Given the description of an element on the screen output the (x, y) to click on. 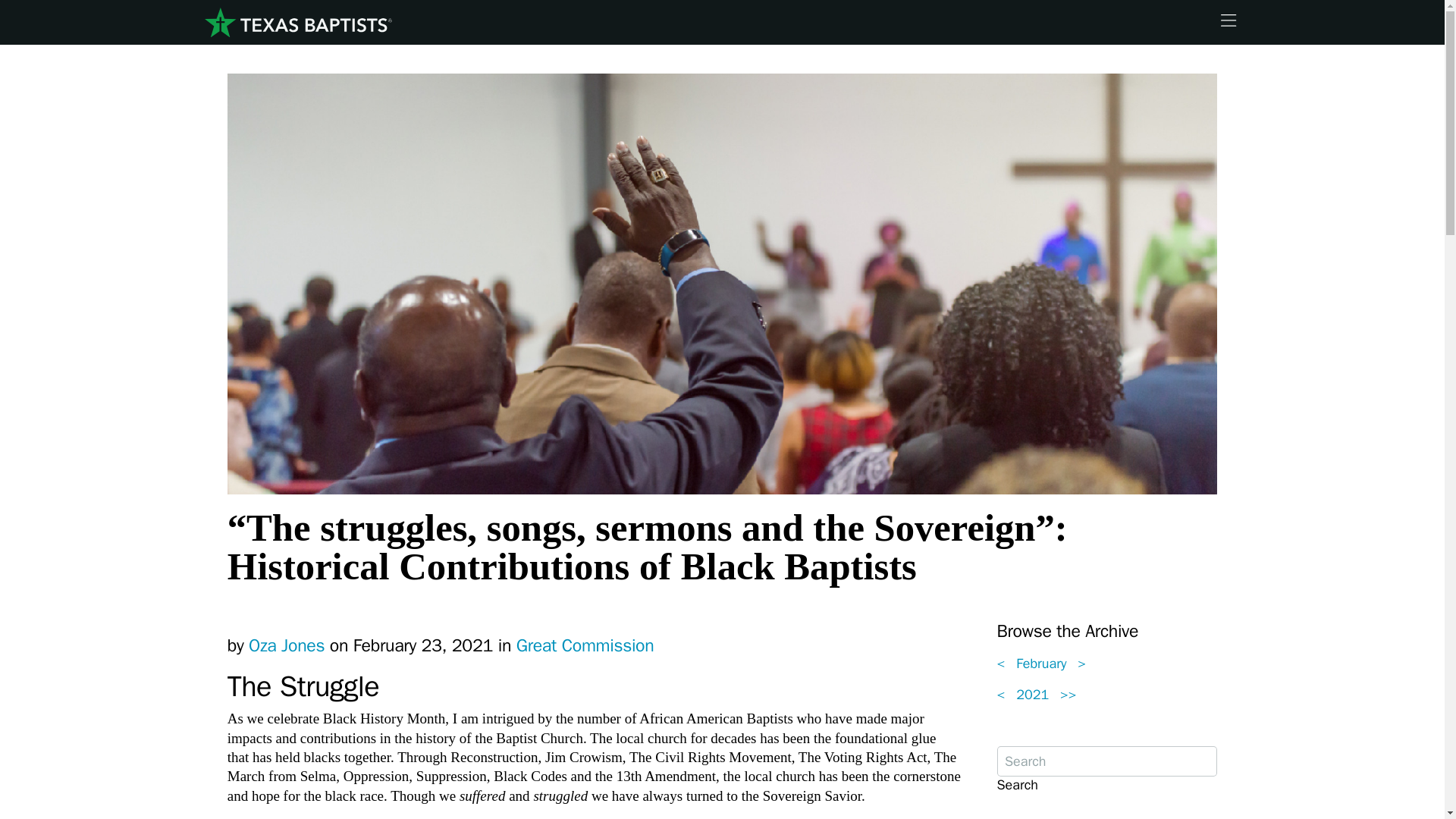
February (1041, 663)
Oza Jones (286, 645)
2021 (1033, 694)
Search (1015, 784)
Great Commission (584, 645)
Home (297, 22)
